Given the description of an element on the screen output the (x, y) to click on. 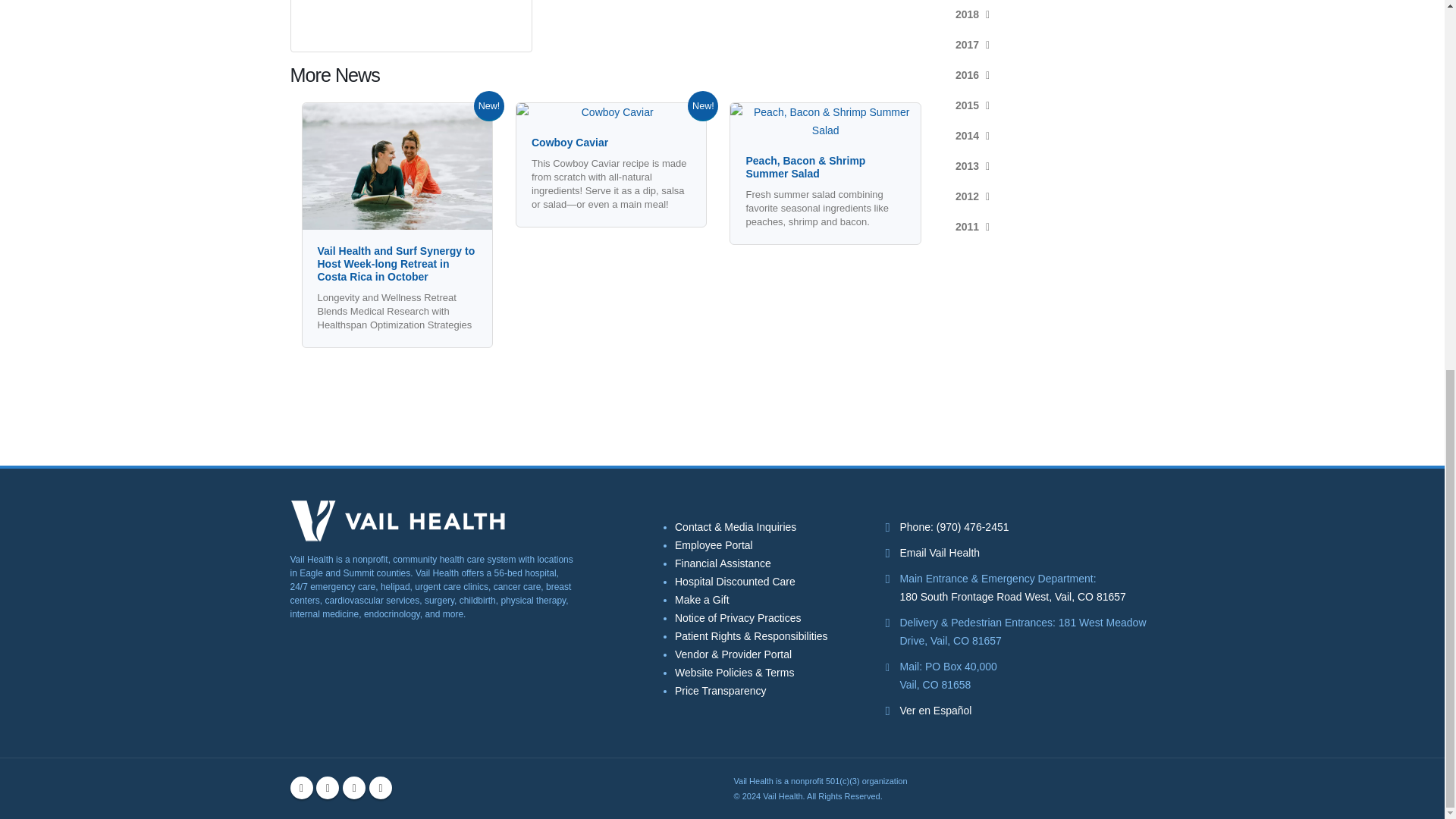
Facebook (301, 787)
LinkedIn (380, 787)
Instagram (327, 787)
You Tube (353, 787)
